Given the description of an element on the screen output the (x, y) to click on. 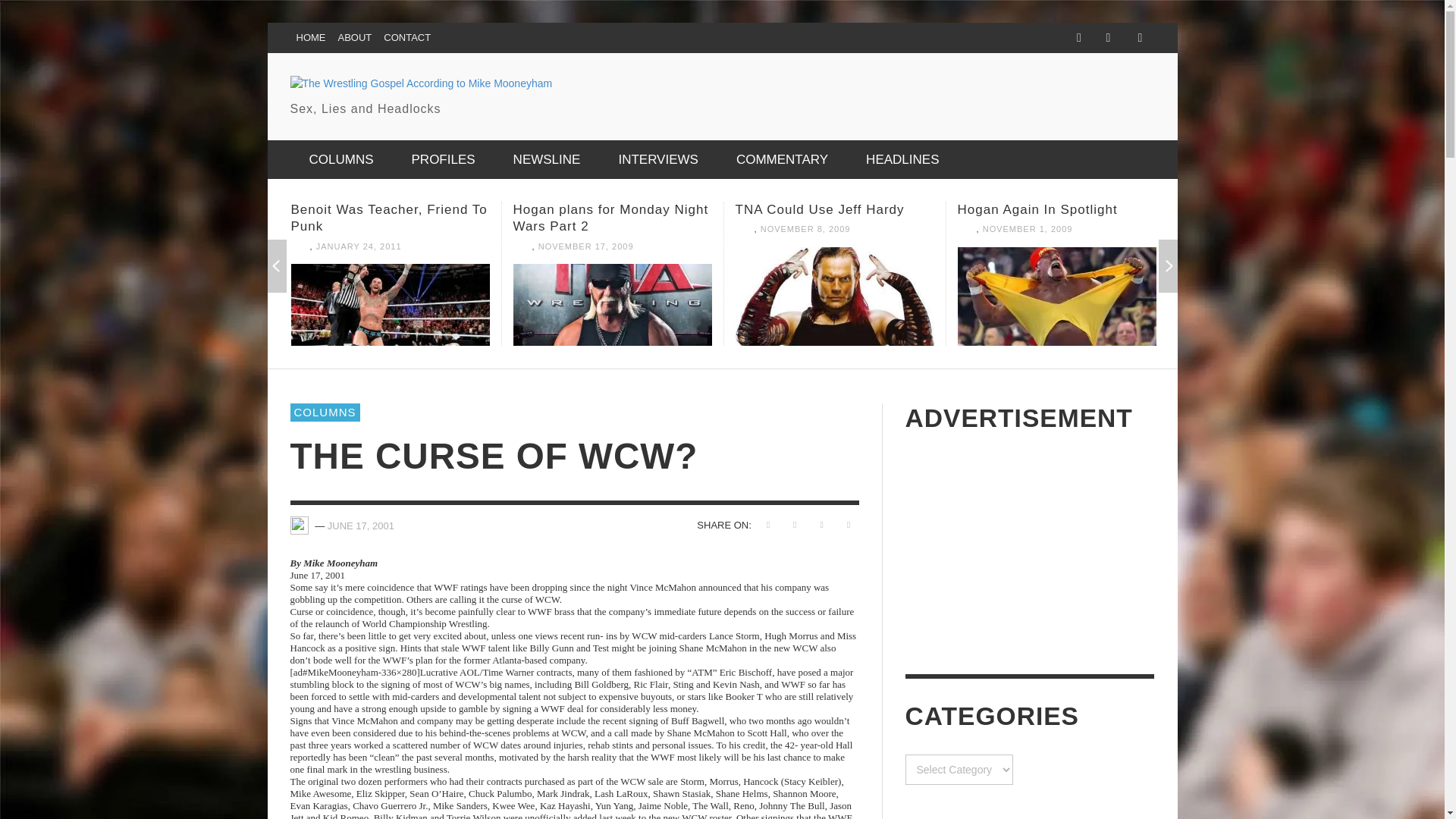
COLUMNS (340, 159)
Sex, Lies and Headlocks (420, 96)
Twitter (1107, 37)
CONTACT (406, 37)
Facebook (1078, 37)
PROFILES (444, 159)
ABOUT (354, 37)
HOME (310, 37)
